Given the description of an element on the screen output the (x, y) to click on. 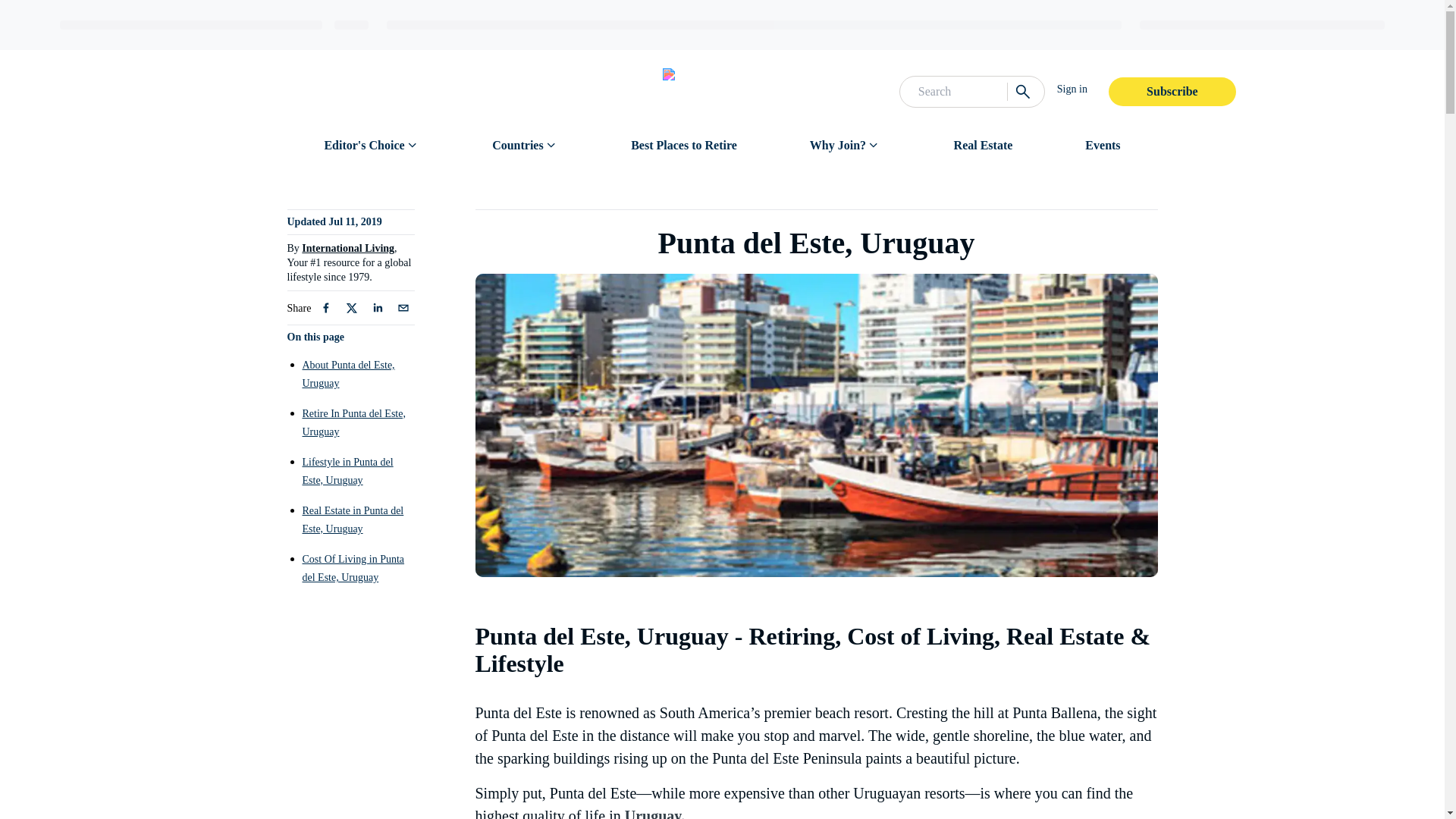
Sign in (1072, 88)
Countries (517, 145)
Sign in (1078, 88)
Subscribe (1172, 91)
